Given the description of an element on the screen output the (x, y) to click on. 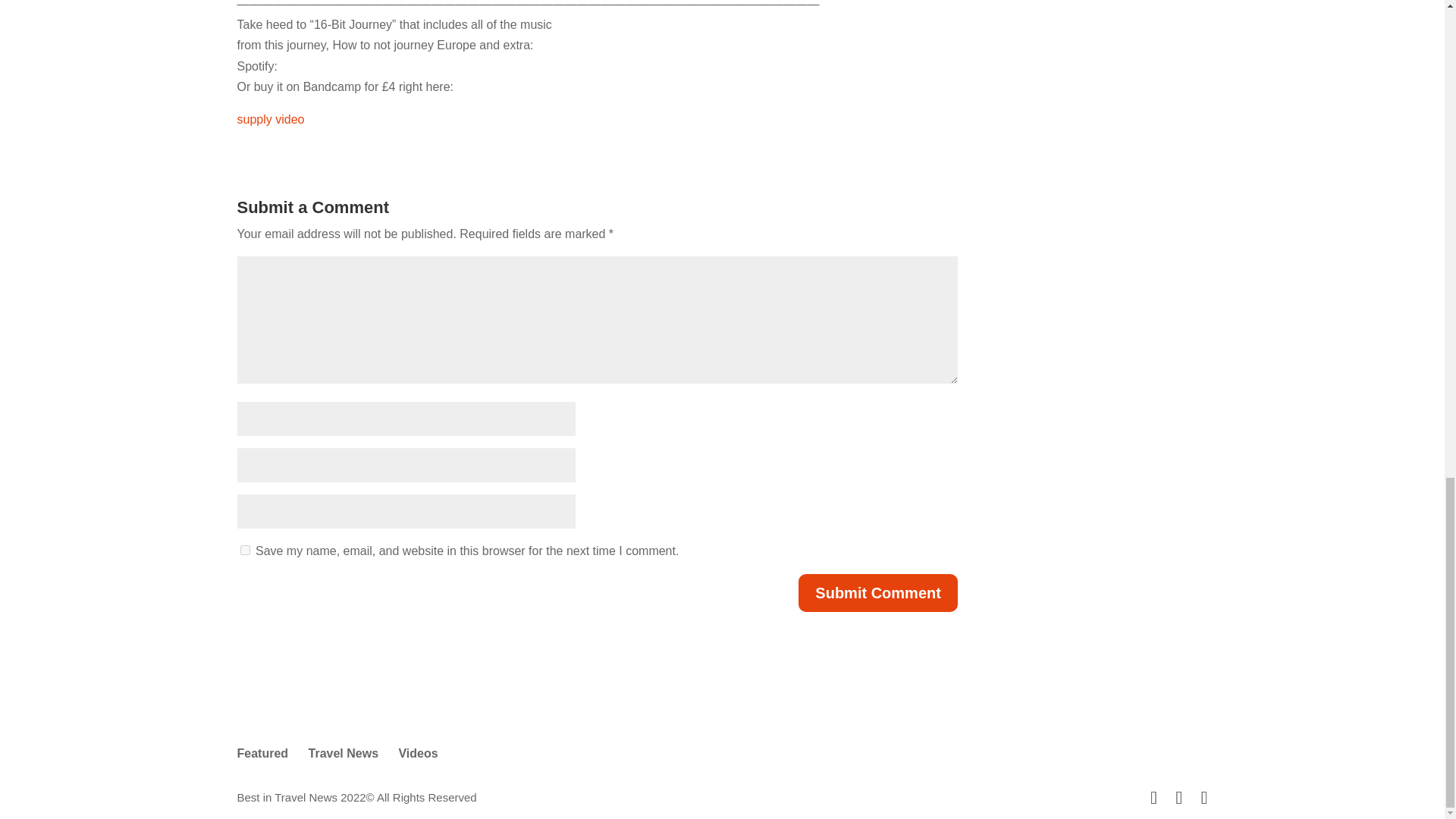
Featured (261, 753)
Submit Comment (877, 592)
Submit Comment (877, 592)
supply video (269, 119)
Videos (417, 753)
yes (244, 550)
Travel News (343, 753)
